Given the description of an element on the screen output the (x, y) to click on. 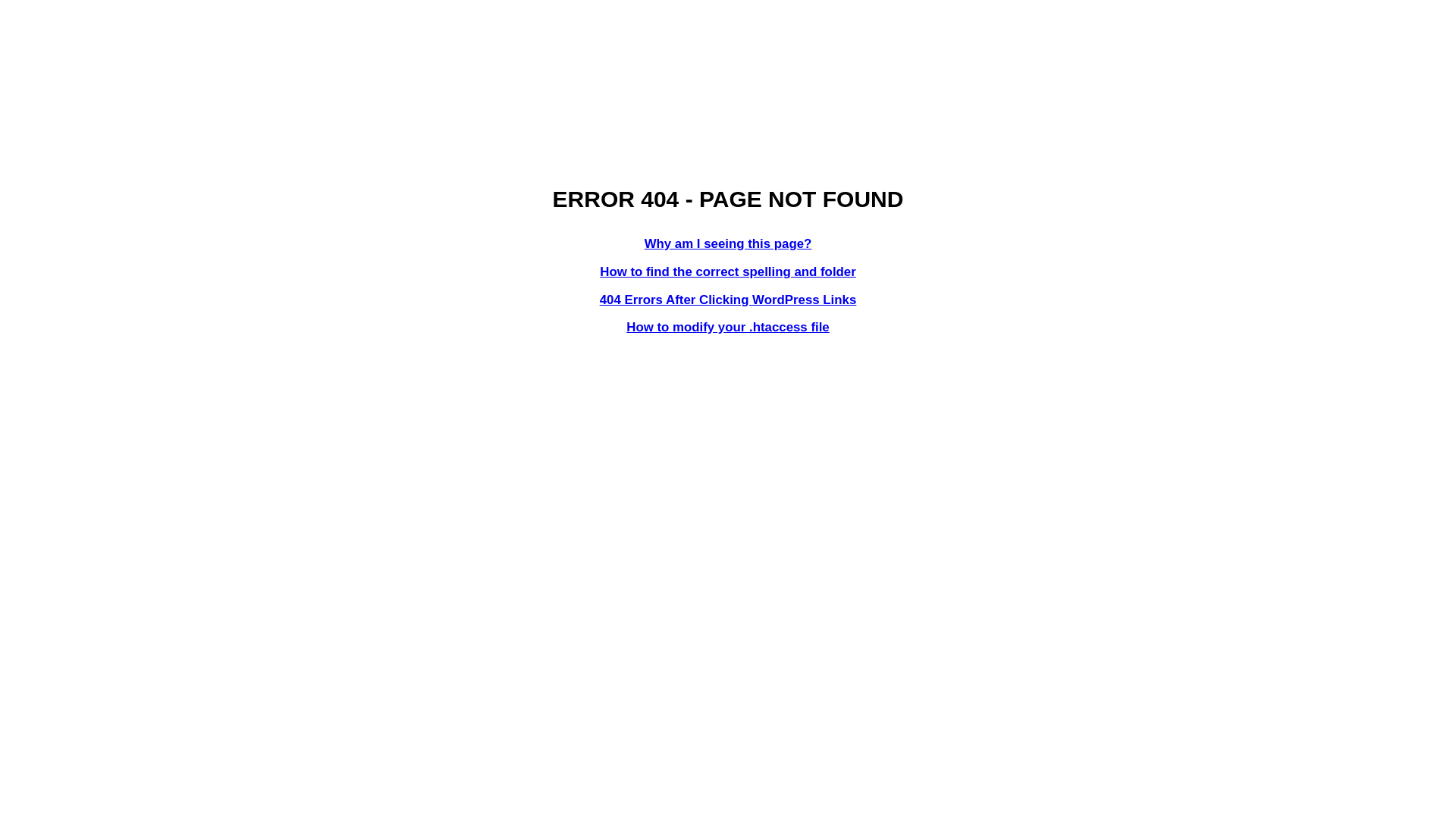
404 Errors After Clicking WordPress Links Element type: text (727, 299)
Why am I seeing this page? Element type: text (728, 243)
How to modify your .htaccess file Element type: text (727, 327)
How to find the correct spelling and folder Element type: text (727, 271)
